Given the description of an element on the screen output the (x, y) to click on. 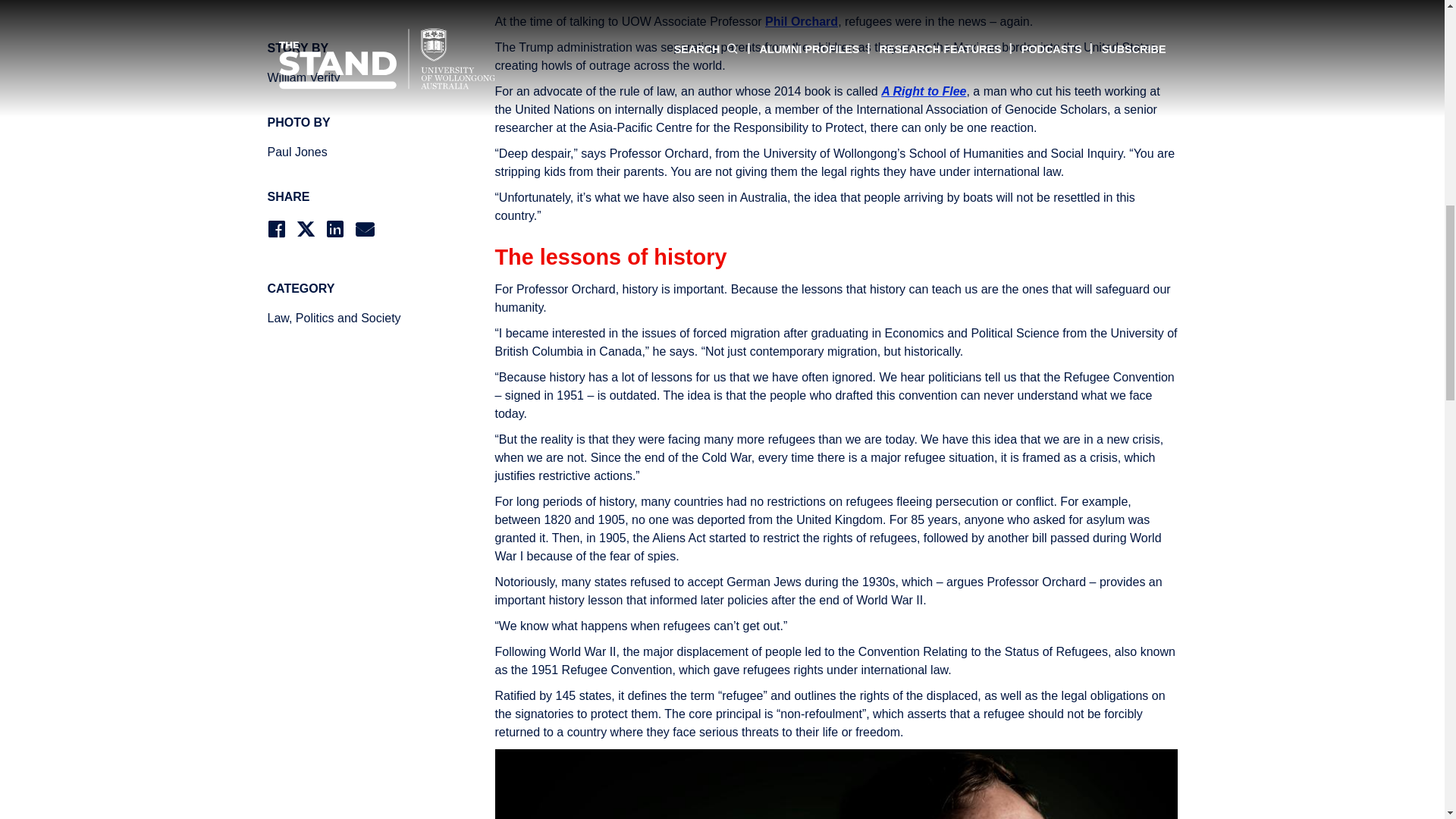
Law, Politics and Society (352, 318)
Phil Orchard (801, 21)
A Right to Flee (923, 91)
